Given the description of an element on the screen output the (x, y) to click on. 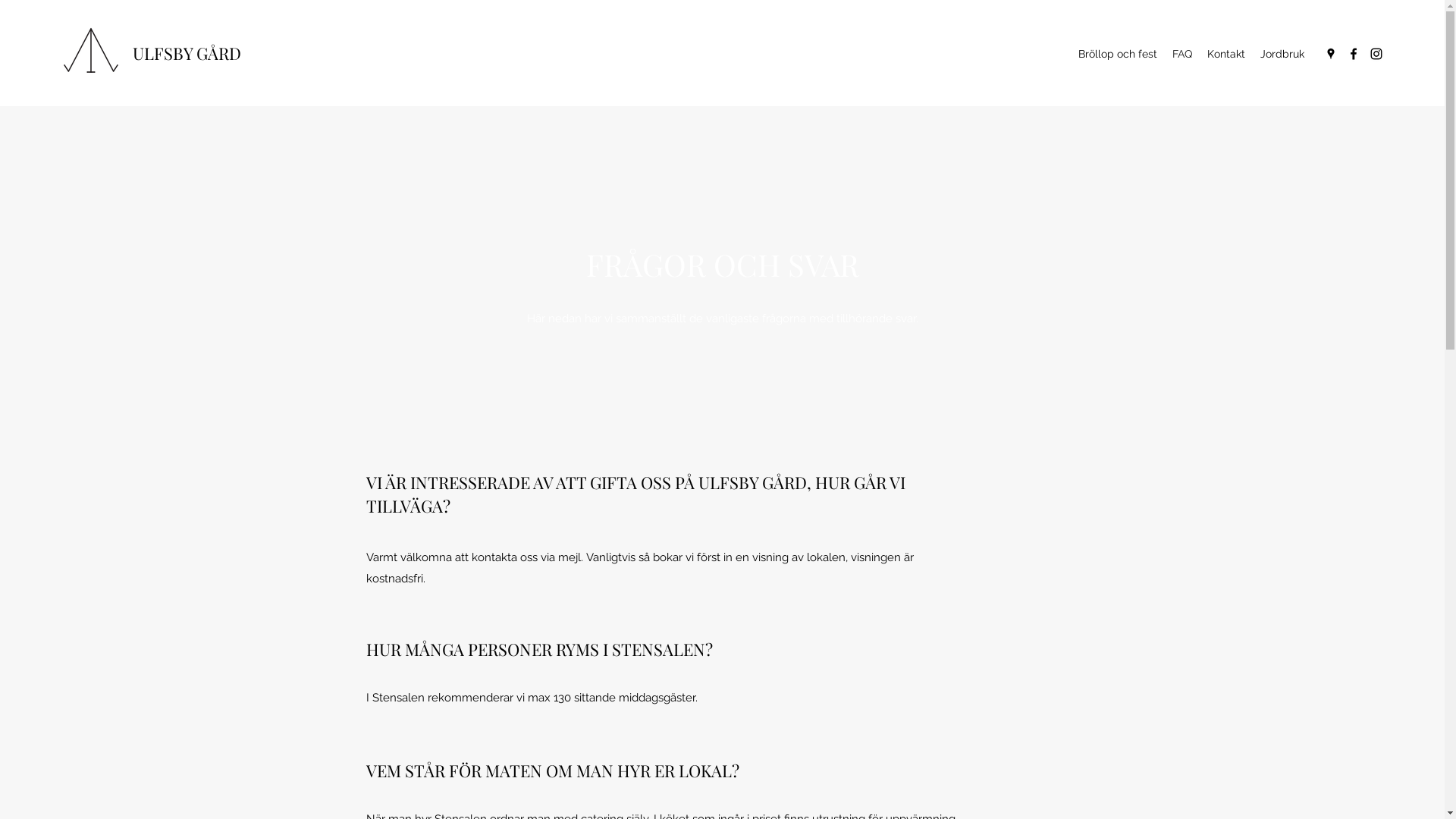
Kontakt Element type: text (1225, 53)
FAQ Element type: text (1181, 53)
Jordbruk Element type: text (1281, 53)
